Given the description of an element on the screen output the (x, y) to click on. 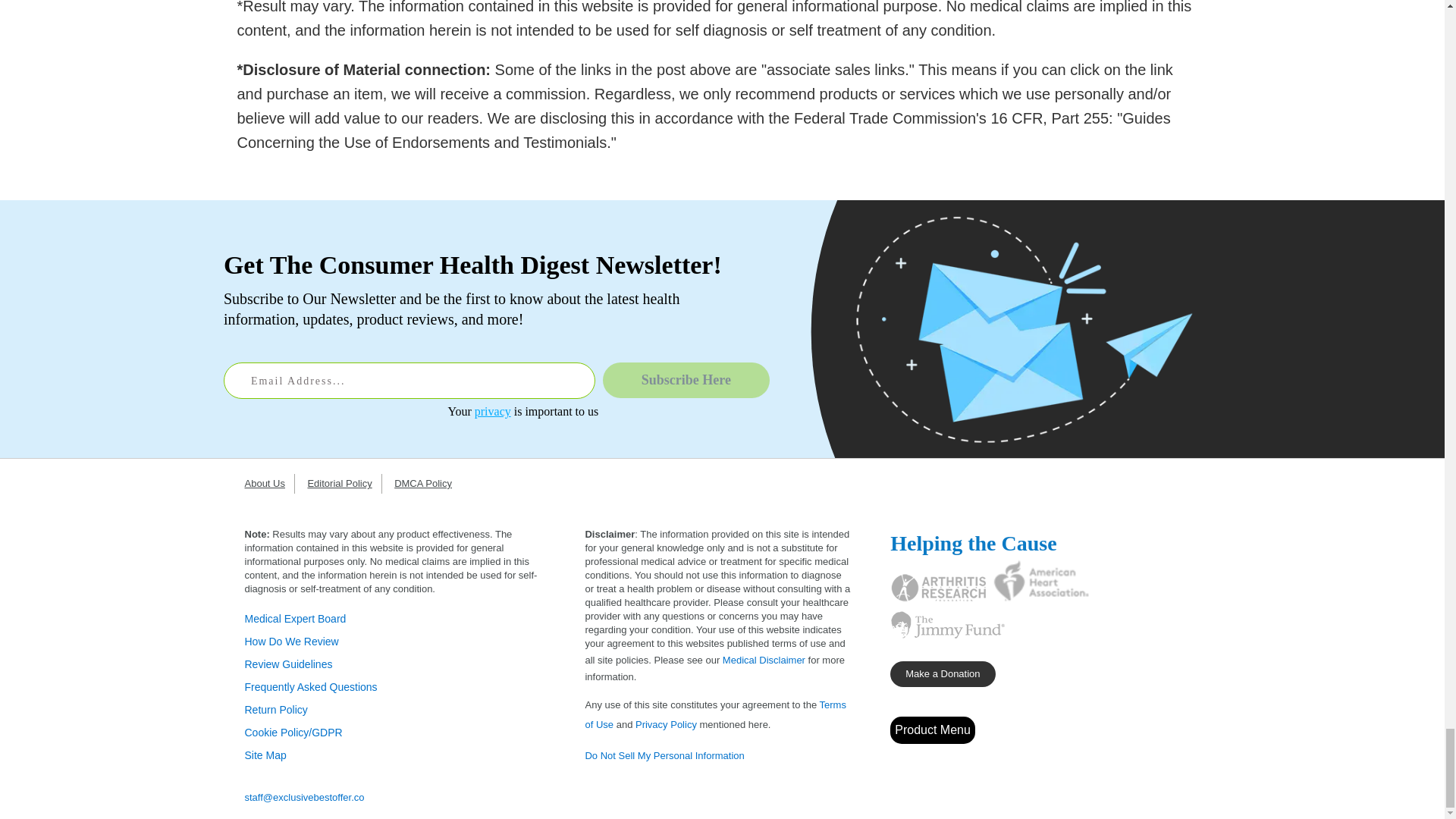
review guidelines (287, 664)
california privacy notice (664, 755)
staff ExclusiveBestOffer (304, 797)
DMCA Policy (427, 482)
termsofuse (715, 714)
frequently asked questions (310, 686)
medical expert (295, 618)
sitemap (264, 755)
return policy (275, 709)
how do we do reviews (290, 641)
cookie policy (293, 732)
privacy policy (665, 724)
Editorial Policy (343, 482)
About Us (269, 482)
